Given the description of an element on the screen output the (x, y) to click on. 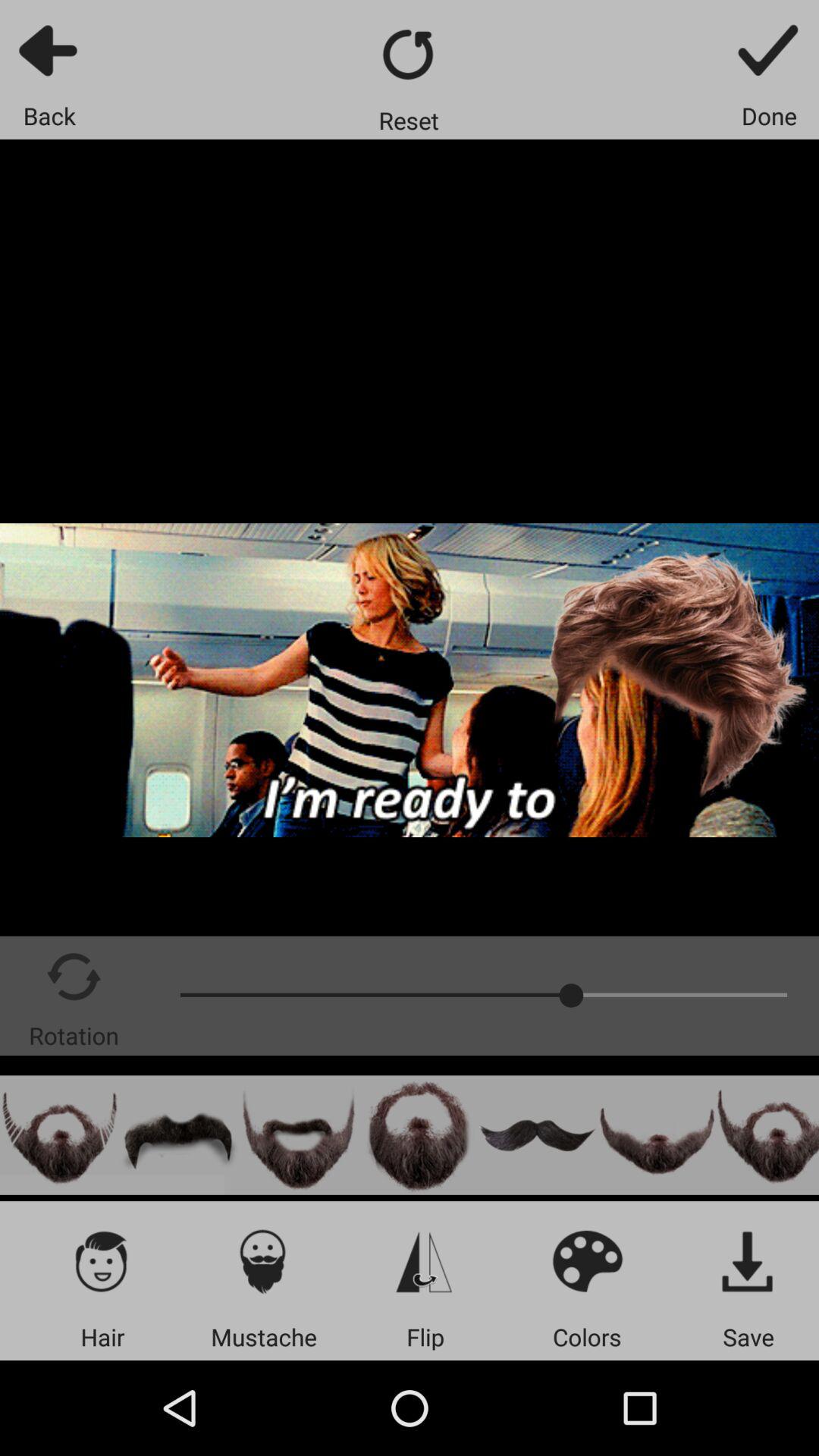
ok button (769, 49)
